Given the description of an element on the screen output the (x, y) to click on. 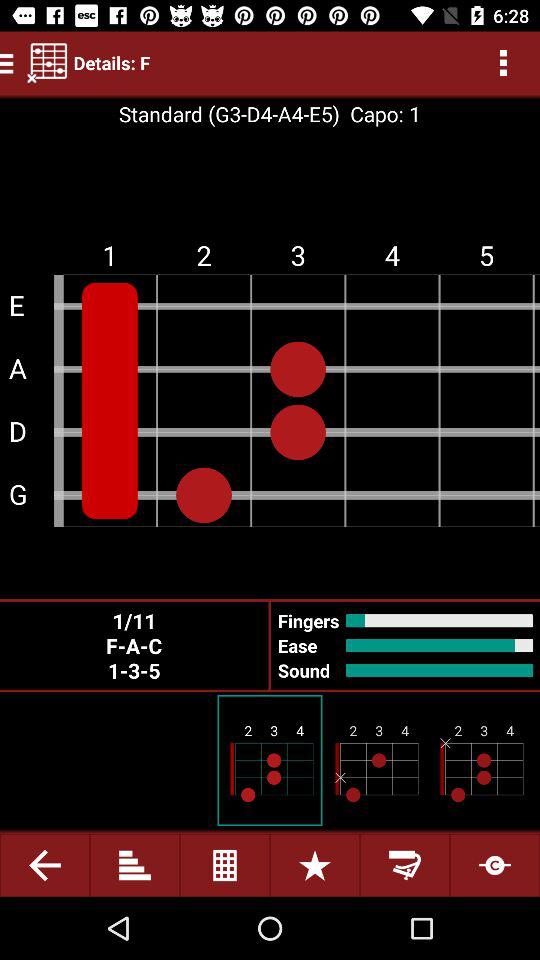
click item next to standard g3 d4 item (379, 113)
